Given the description of an element on the screen output the (x, y) to click on. 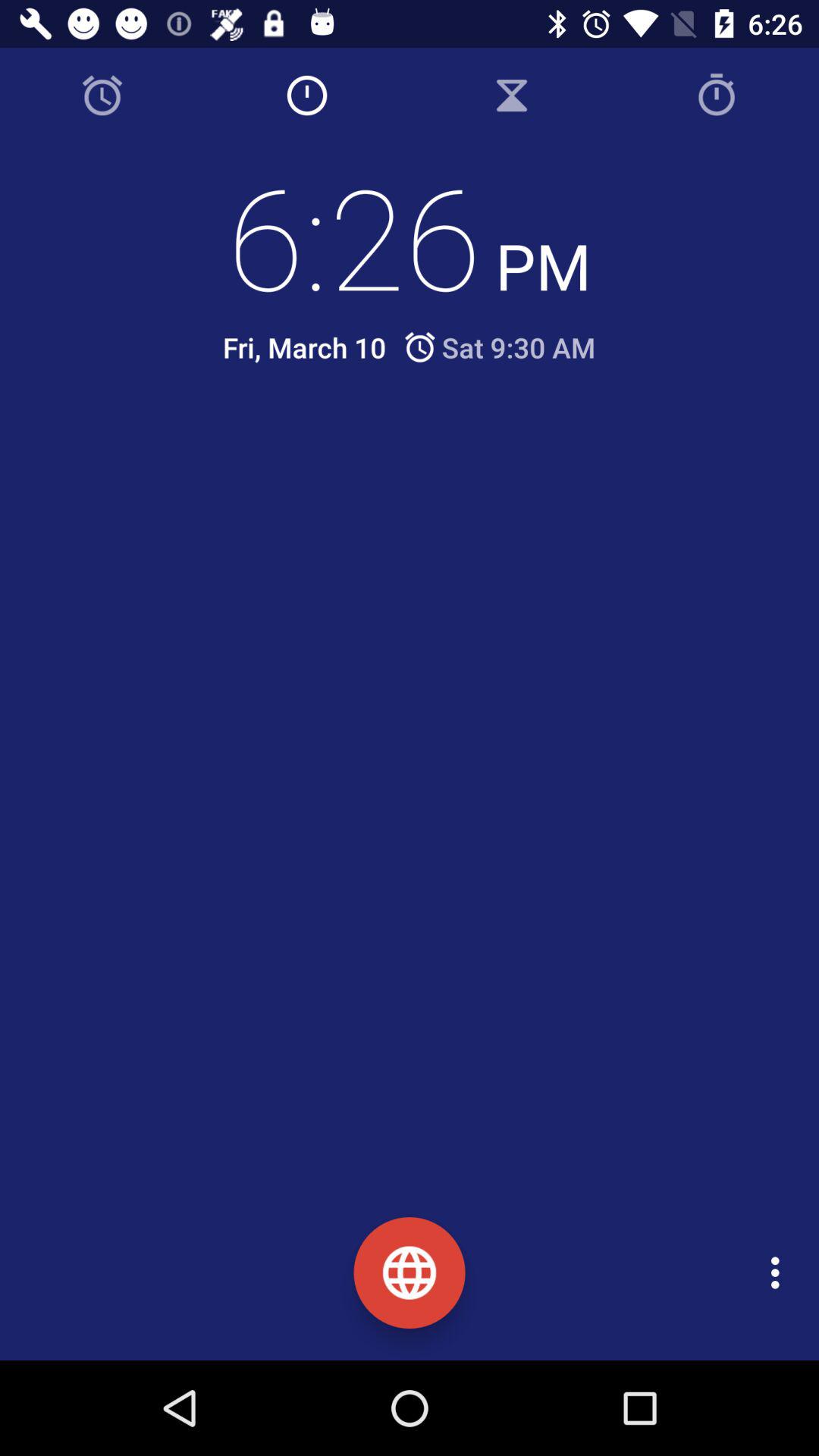
turn on the item next to fri, march 10 item (498, 347)
